Given the description of an element on the screen output the (x, y) to click on. 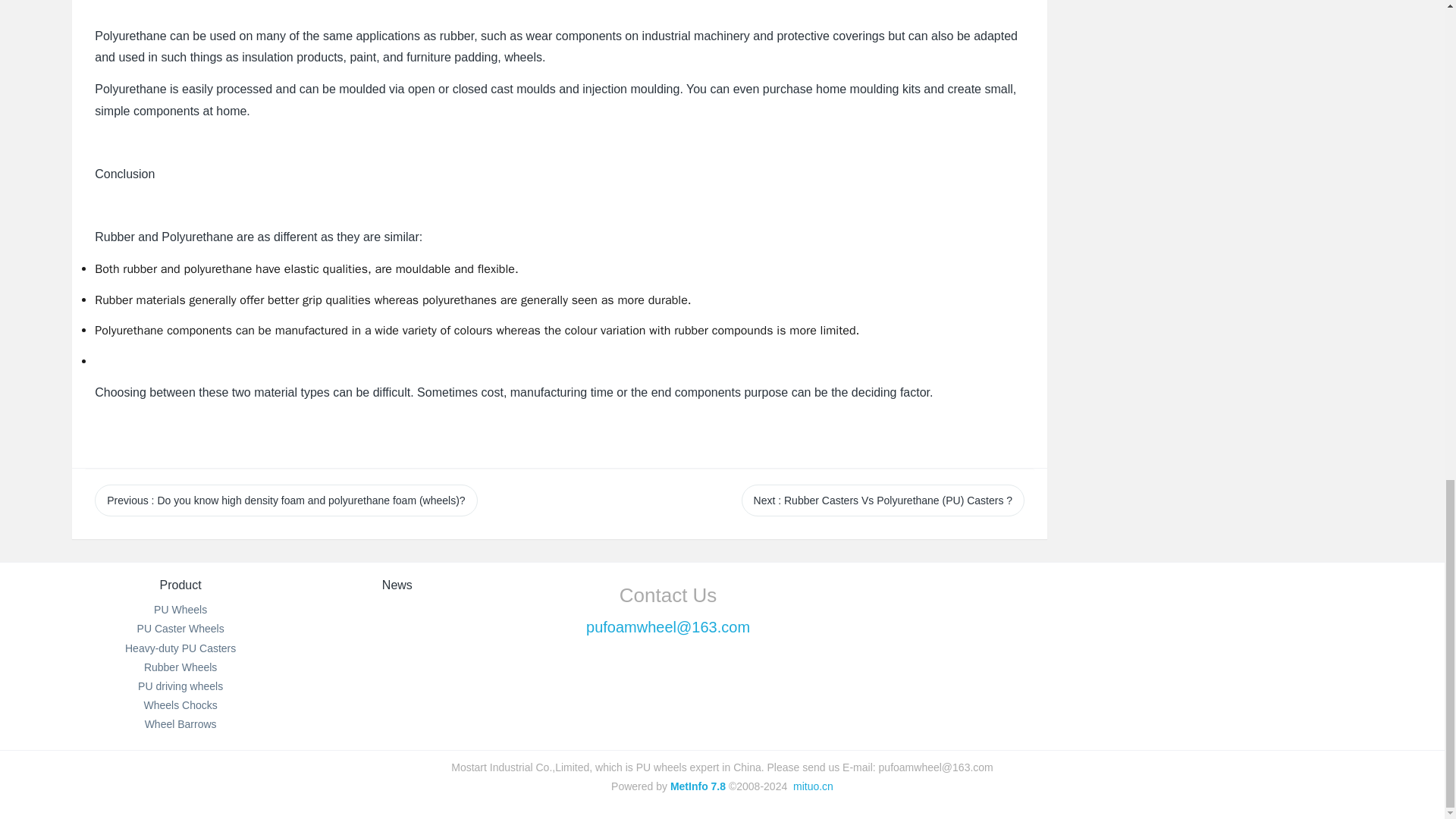
Product (181, 584)
PU driving wheels (180, 686)
Wheel Barrows (180, 724)
Heavy-duty PU Casters (180, 648)
PU Wheels (180, 609)
Rubber Wheels (180, 666)
Wheels Chocks (179, 705)
PU Caster Wheels (180, 628)
